Given the description of an element on the screen output the (x, y) to click on. 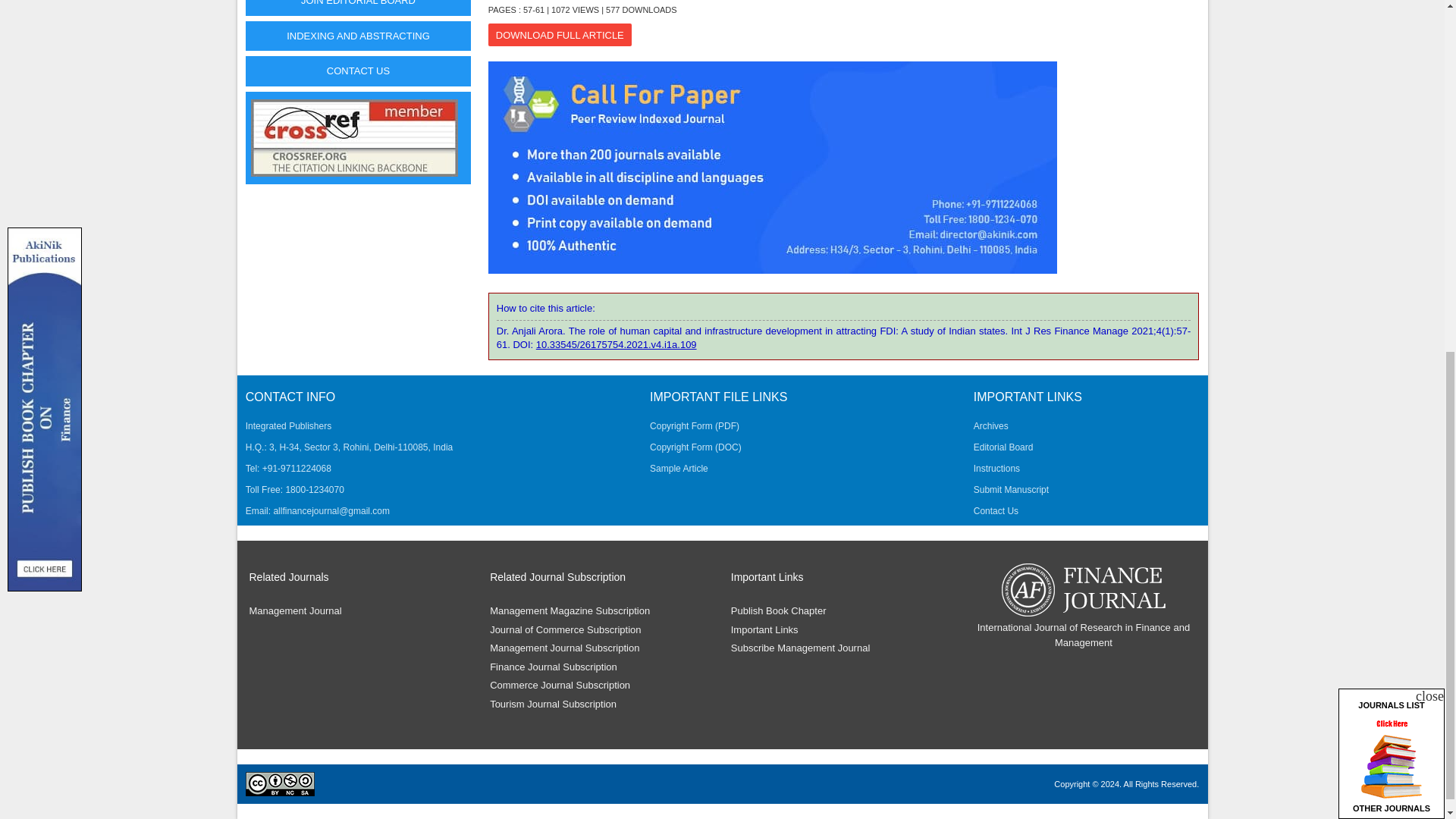
Instructions (997, 468)
INDEXING AND ABSTRACTING (358, 36)
Archives (991, 425)
DOWNLOAD FULL ARTICLE (559, 34)
JOIN EDITORIAL BOARD (358, 7)
Sample Article (678, 468)
CONTACT US (358, 71)
Editorial Board (1003, 447)
Financial Management Journal CrossRef Indexing (354, 137)
Submit Manuscript (1011, 489)
